Given the description of an element on the screen output the (x, y) to click on. 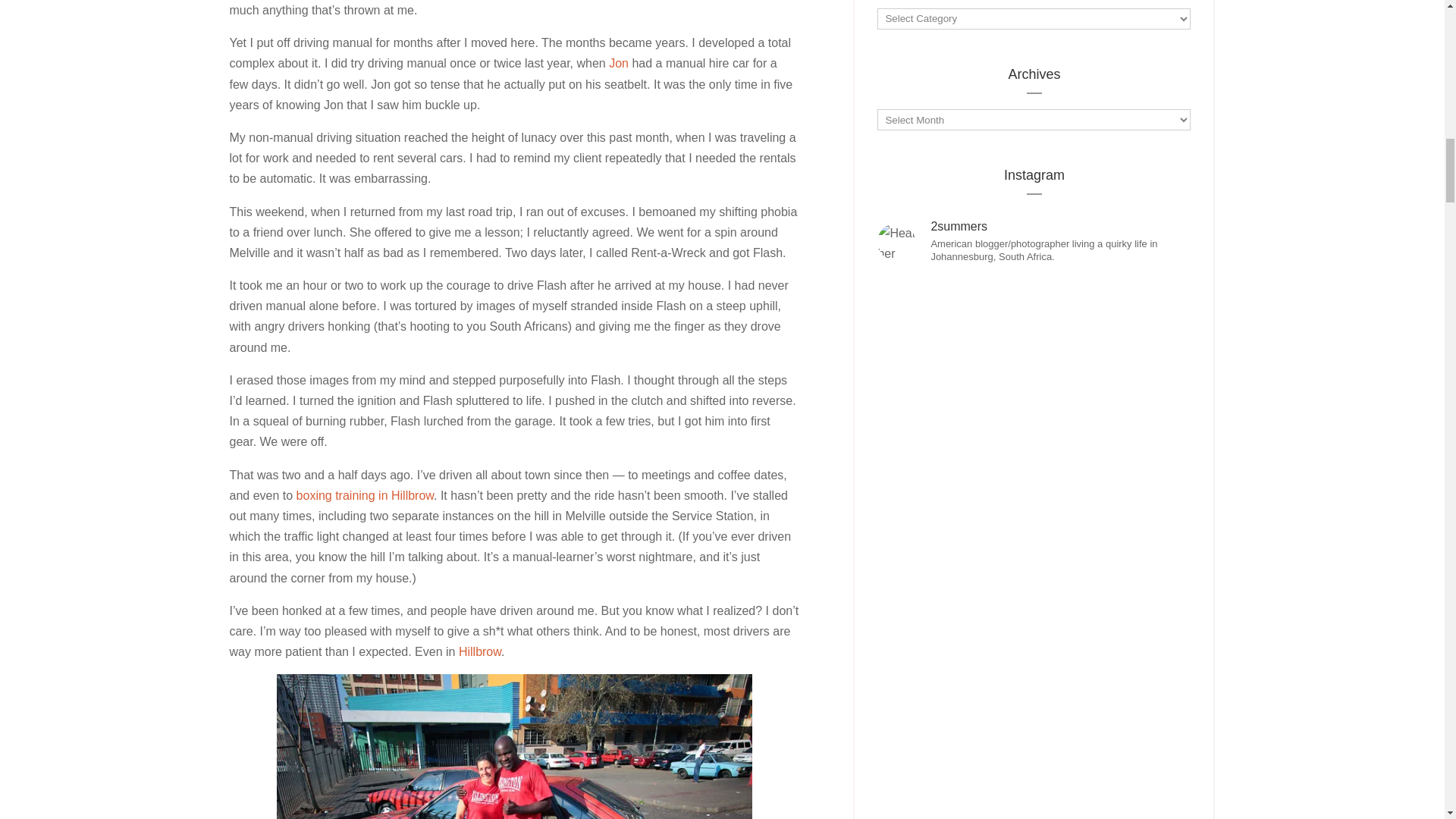
Hillbrow (479, 651)
Jon (618, 62)
boxing training in Hillbrow (365, 495)
